Given the description of an element on the screen output the (x, y) to click on. 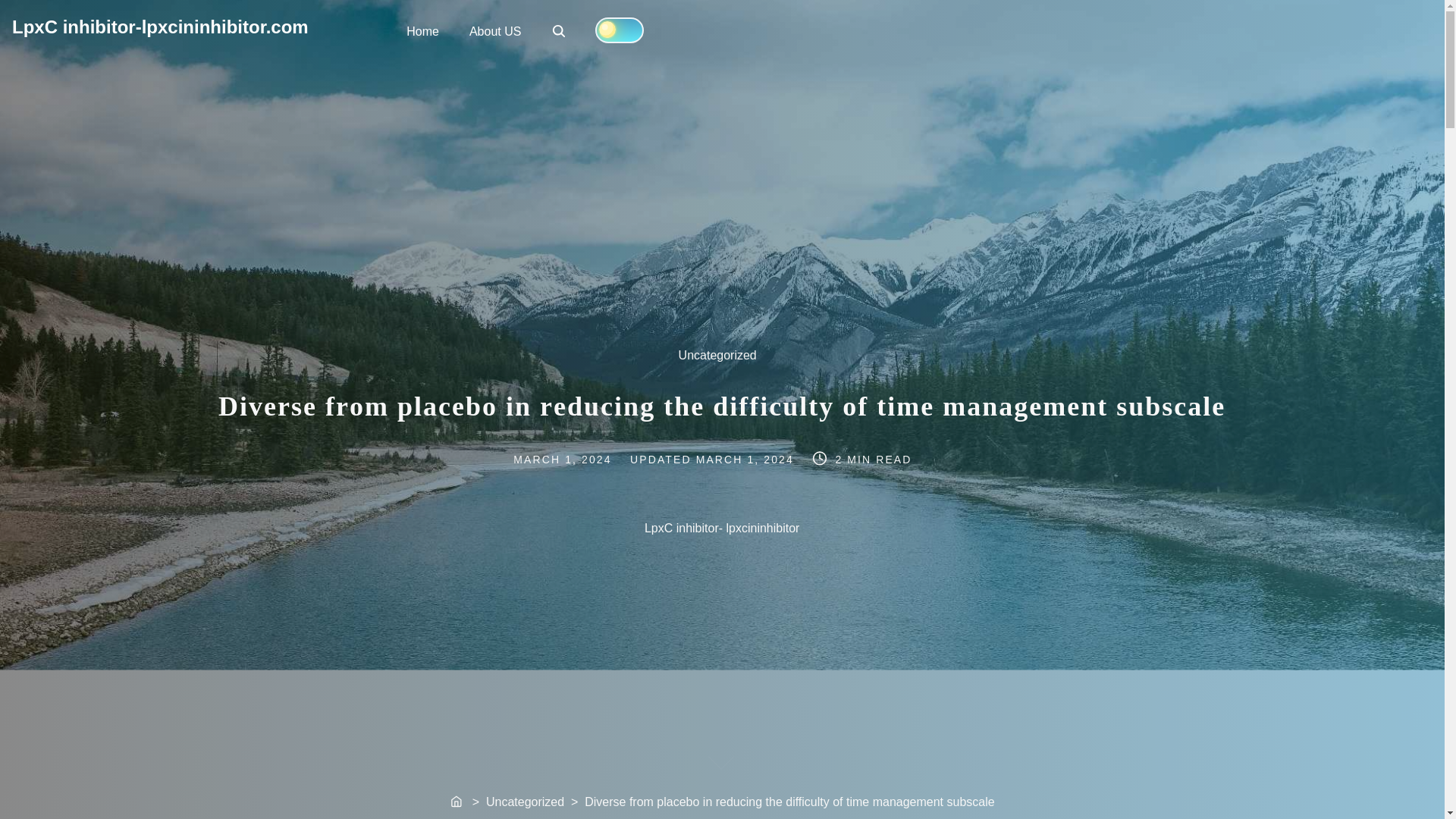
About US (494, 30)
Home (422, 30)
MARCH 1, 2024 (744, 459)
LpxC inhibitor-lpxcininhibitor.com (159, 26)
Home (456, 802)
Search (558, 30)
Uncategorized (723, 357)
MARCH 1, 2024 (559, 31)
